Given the description of an element on the screen output the (x, y) to click on. 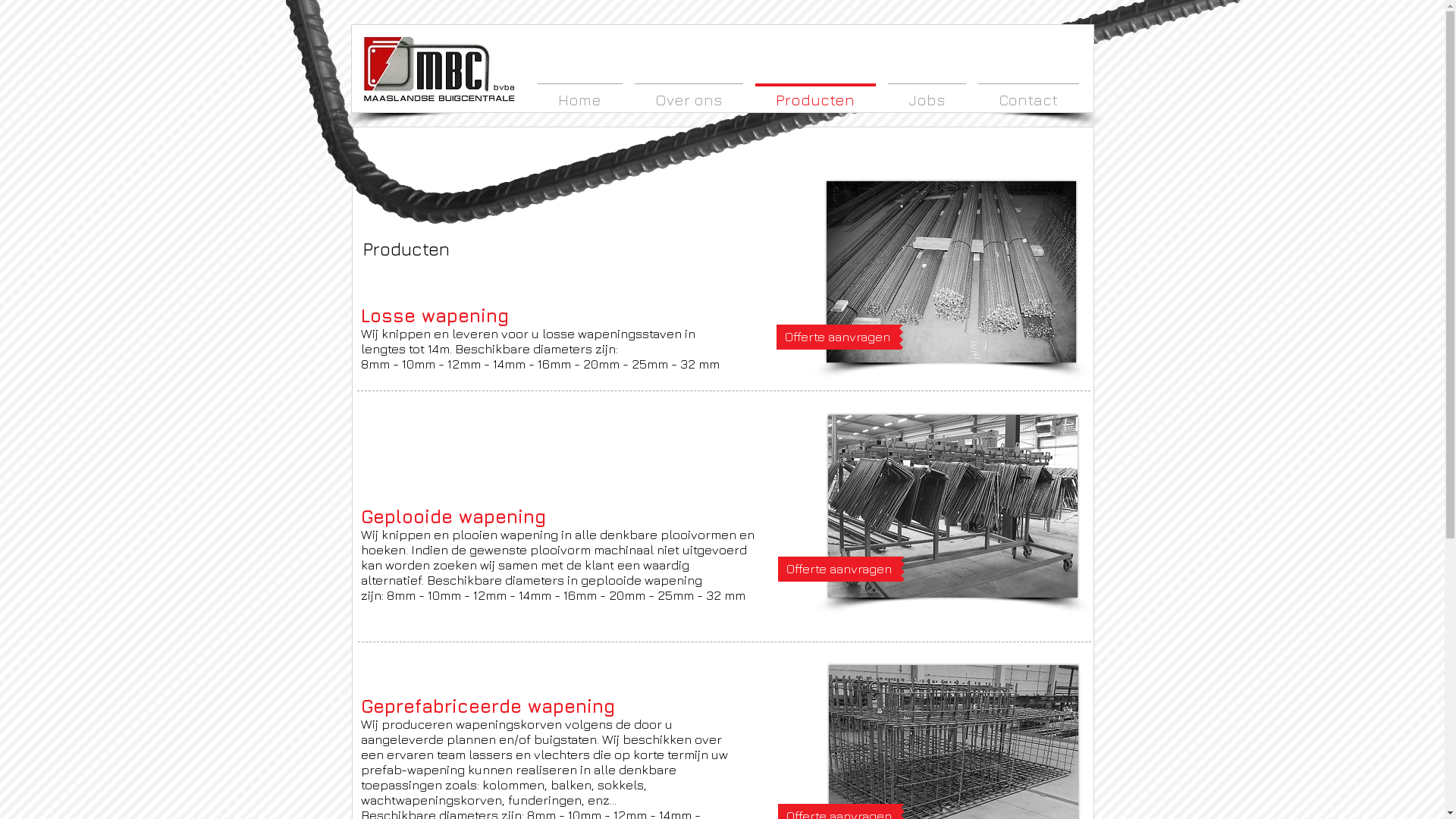
Losse wapening Element type: hover (951, 271)
Offerte aanvragen Element type: text (839, 568)
Offerte aanvragen Element type: text (837, 336)
Home Element type: text (578, 92)
Over ons Element type: text (687, 92)
Contact Element type: text (1028, 92)
Producten Element type: text (815, 92)
Jobs Element type: text (926, 92)
Geplooide wapening Element type: hover (952, 505)
Maaslandse Buigcentrale Element type: hover (437, 69)
